Given the description of an element on the screen output the (x, y) to click on. 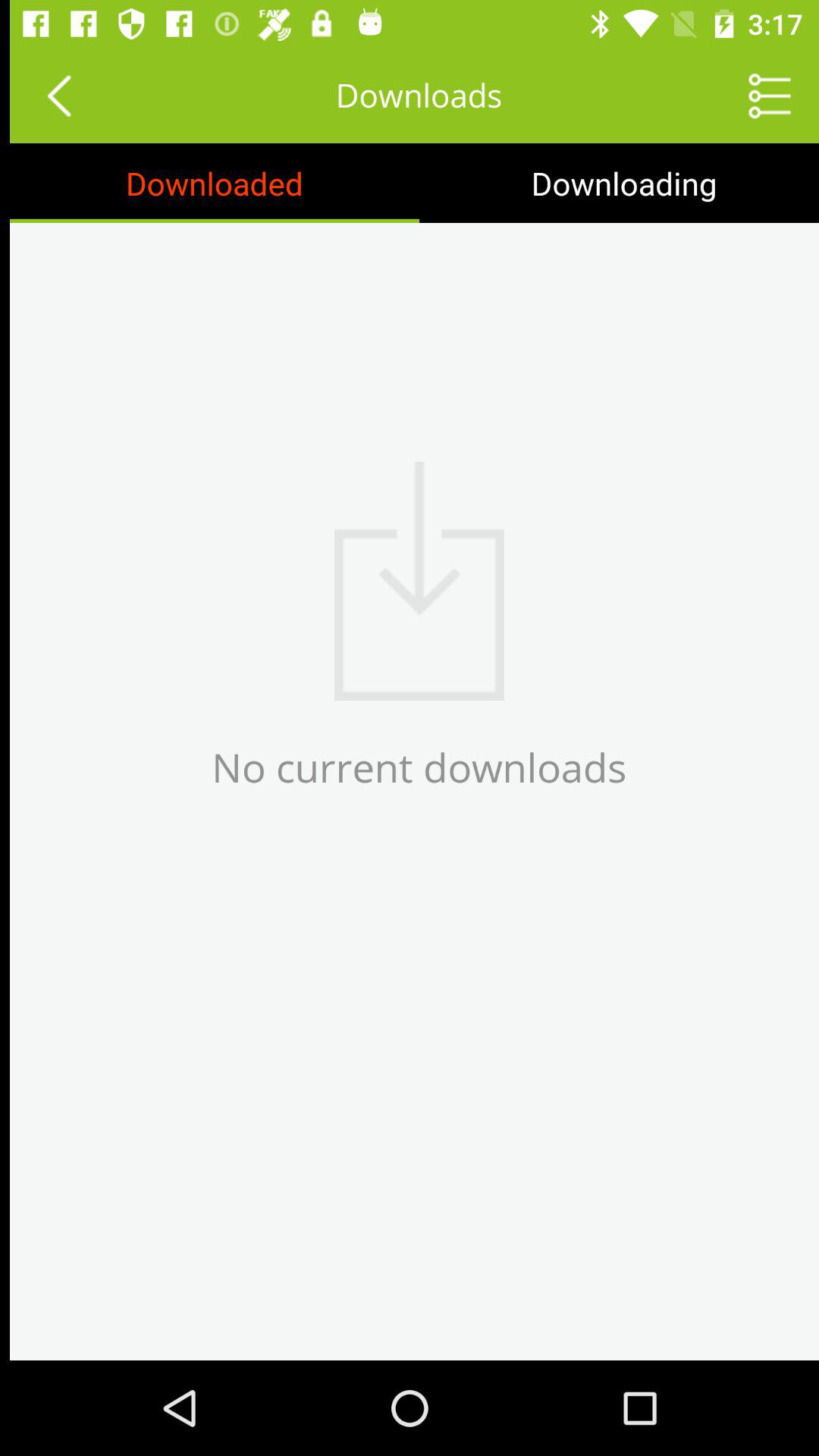
launch icon next to downloads (48, 95)
